Given the description of an element on the screen output the (x, y) to click on. 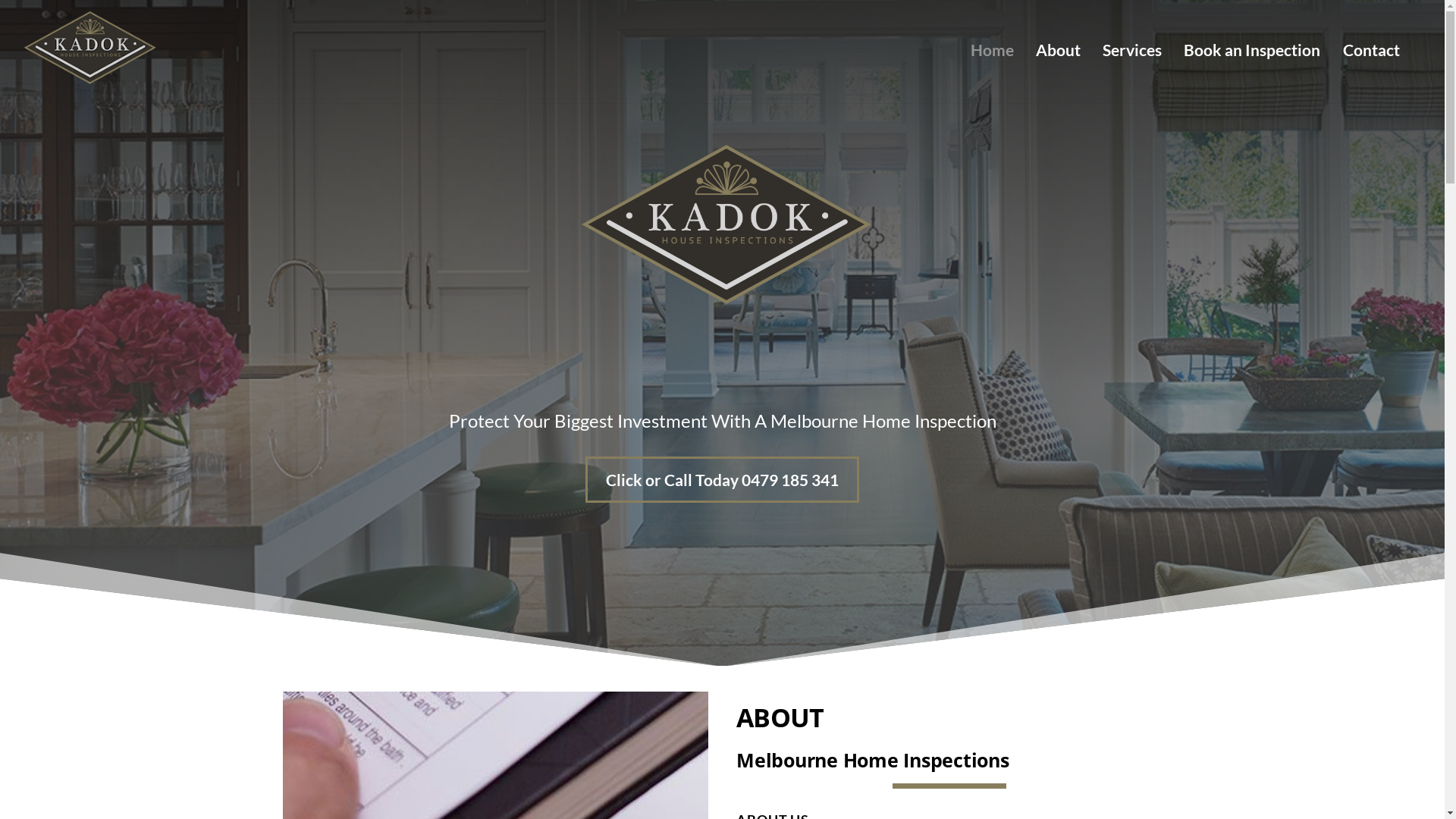
Contact Element type: text (1370, 49)
About Element type: text (1057, 49)
Home Element type: text (991, 49)
kadok Element type: hover (89, 48)
Click or Call Today 0479 185 341 Element type: text (722, 479)
Kadok House Inspections Element type: hover (89, 78)
Services Element type: text (1132, 49)
Book an Inspection Element type: text (1252, 49)
